Given the description of an element on the screen output the (x, y) to click on. 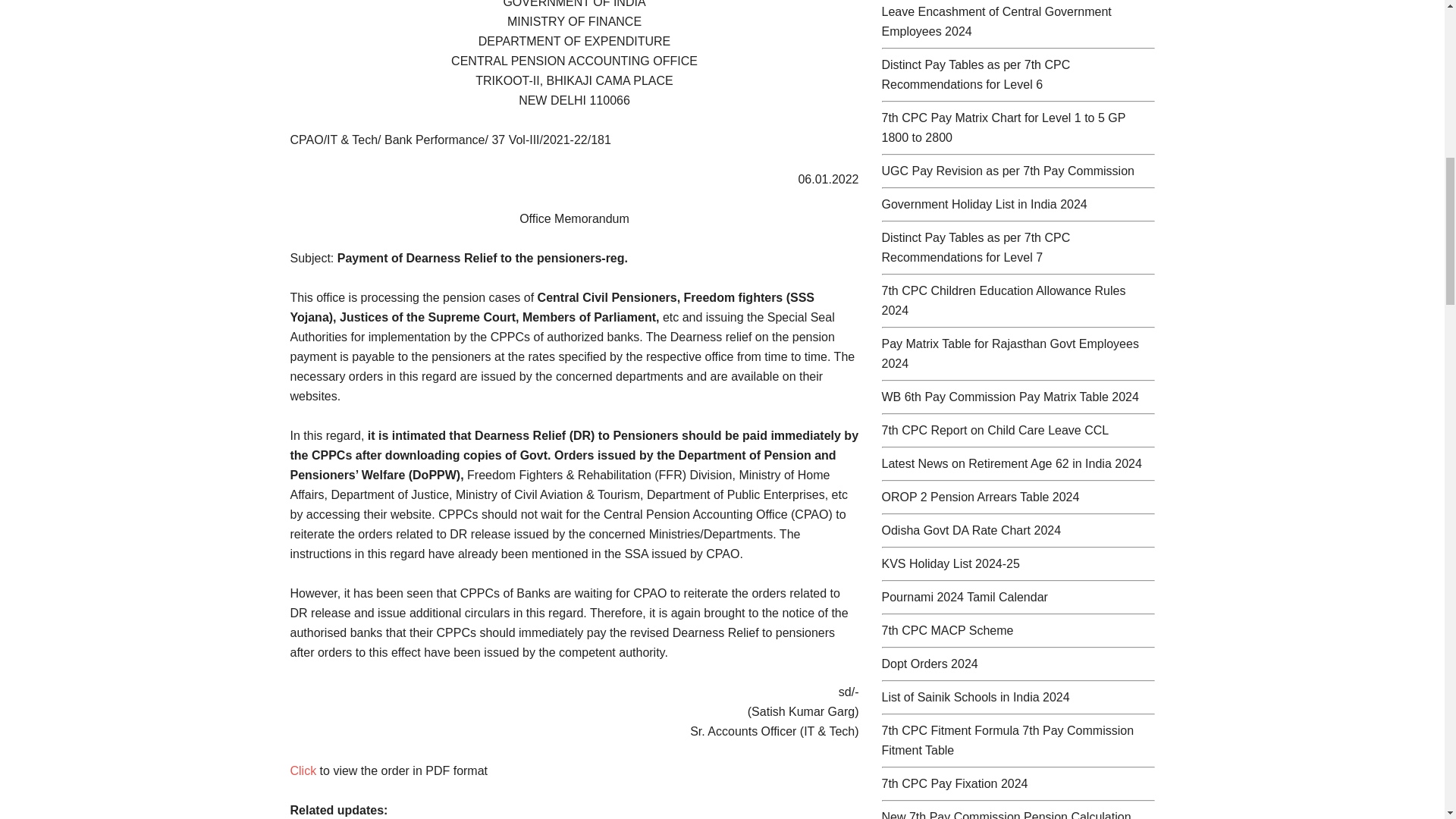
Click (302, 770)
Leave Encashment of Central Government Employees 2024 (995, 20)
Government Holiday List in India 2024 (983, 204)
Pay Matrix Table for Rajasthan Govt Employees 2024 (1009, 353)
7th CPC Pay Matrix Chart for Level 1 to 5 GP 1800 to 2800 (1002, 127)
UGC Pay Revision as per 7th Pay Commission (1007, 170)
7th CPC Children Education Allowance Rules 2024 (1002, 300)
